Given the description of an element on the screen output the (x, y) to click on. 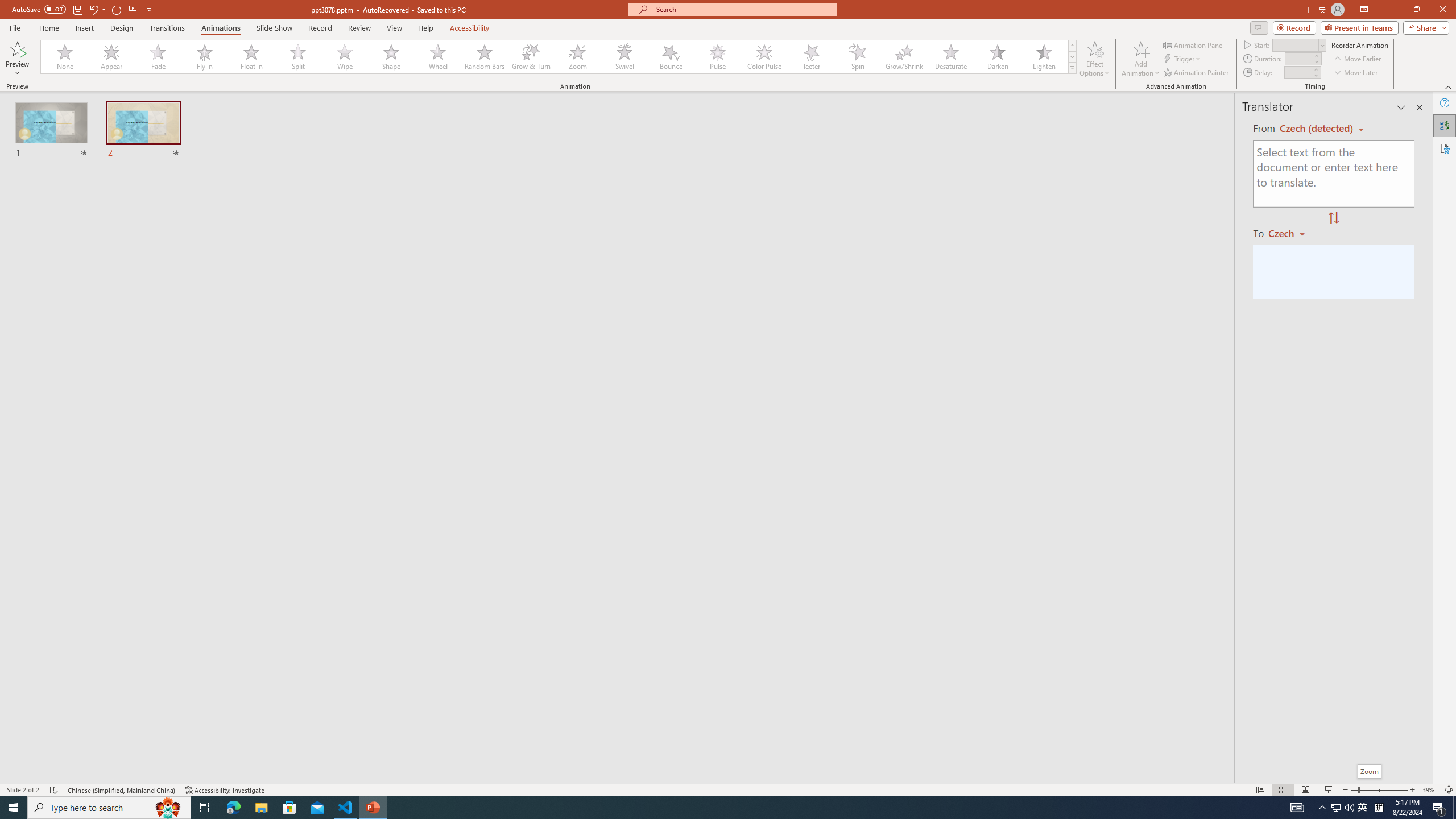
Move Later (1355, 72)
Teeter (810, 56)
Pulse (717, 56)
Grow & Turn (531, 56)
Wipe (344, 56)
Random Bars (484, 56)
